Given the description of an element on the screen output the (x, y) to click on. 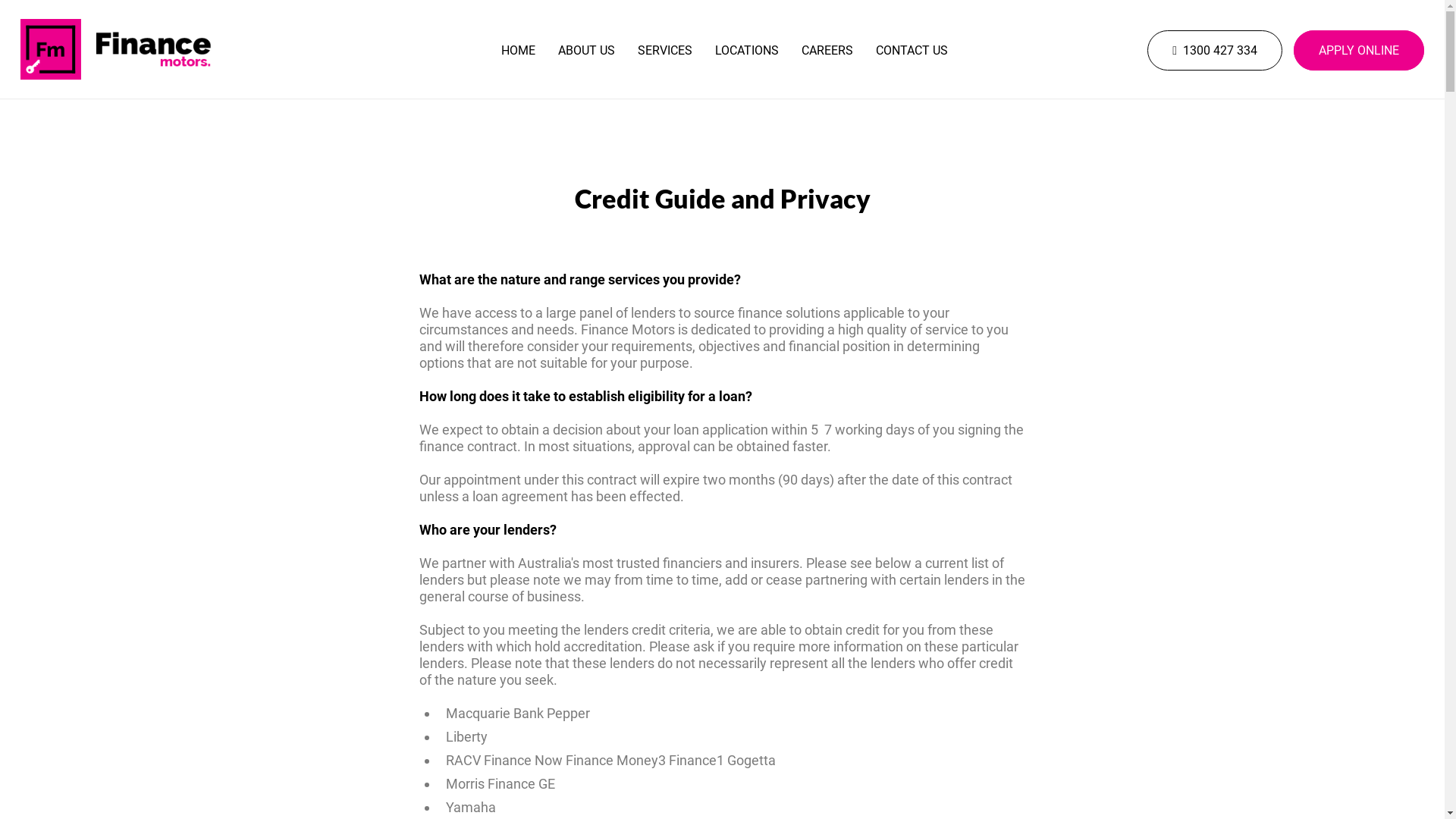
  1300 427 334 Element type: text (1214, 50)
CONTACT US Element type: text (911, 49)
ABOUT US Element type: text (586, 49)
APPLY ONLINE Element type: text (1358, 50)
CAREERS Element type: text (827, 49)
SERVICES Element type: text (664, 49)
HOME Element type: text (517, 49)
LOCATIONS Element type: text (746, 49)
